Given the description of an element on the screen output the (x, y) to click on. 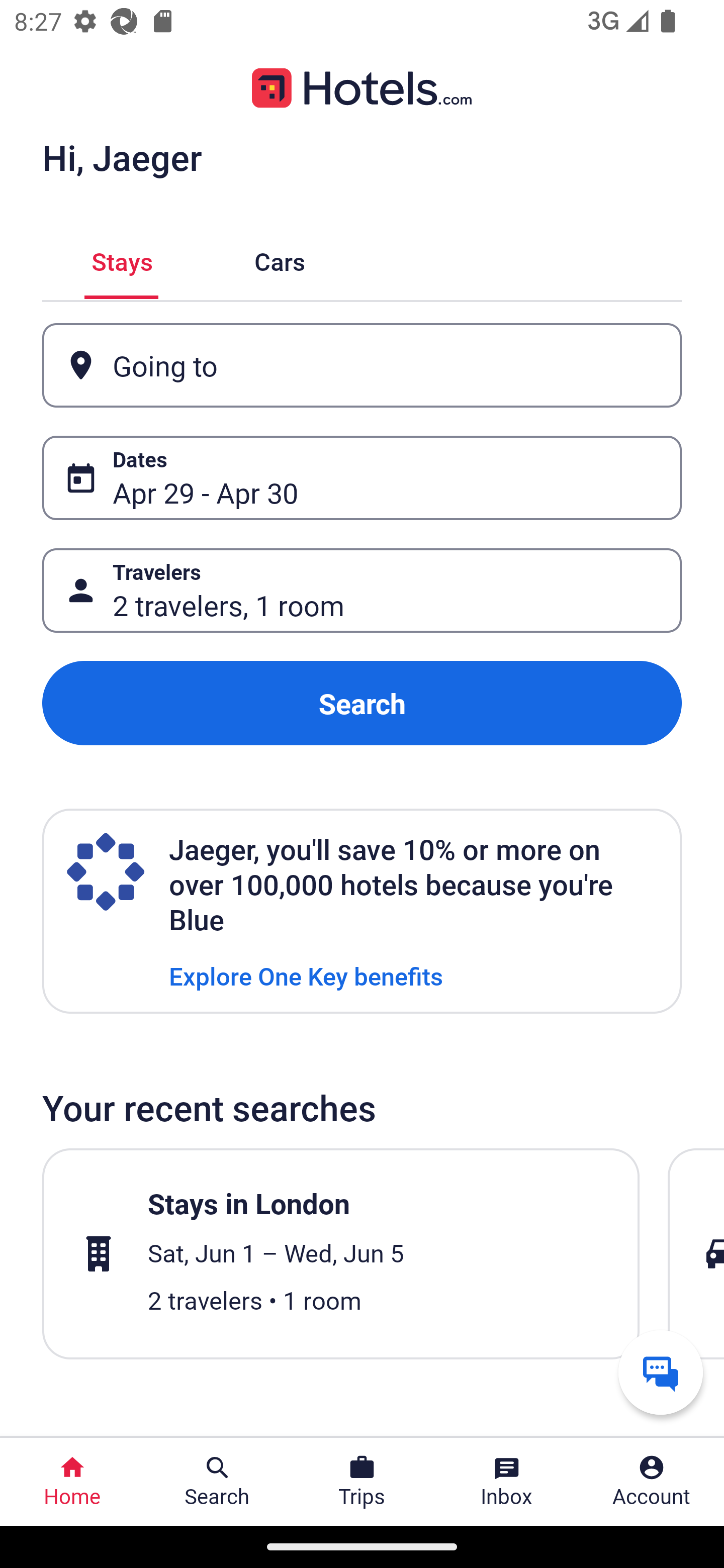
Hi, Jaeger (121, 156)
Cars (279, 259)
Going to Button (361, 365)
Dates Button Apr 29 - Apr 30 (361, 477)
Travelers Button 2 travelers, 1 room (361, 590)
Search (361, 702)
Get help from a virtual agent (660, 1371)
Search Search Button (216, 1481)
Trips Trips Button (361, 1481)
Inbox Inbox Button (506, 1481)
Account Profile. Button (651, 1481)
